Given the description of an element on the screen output the (x, y) to click on. 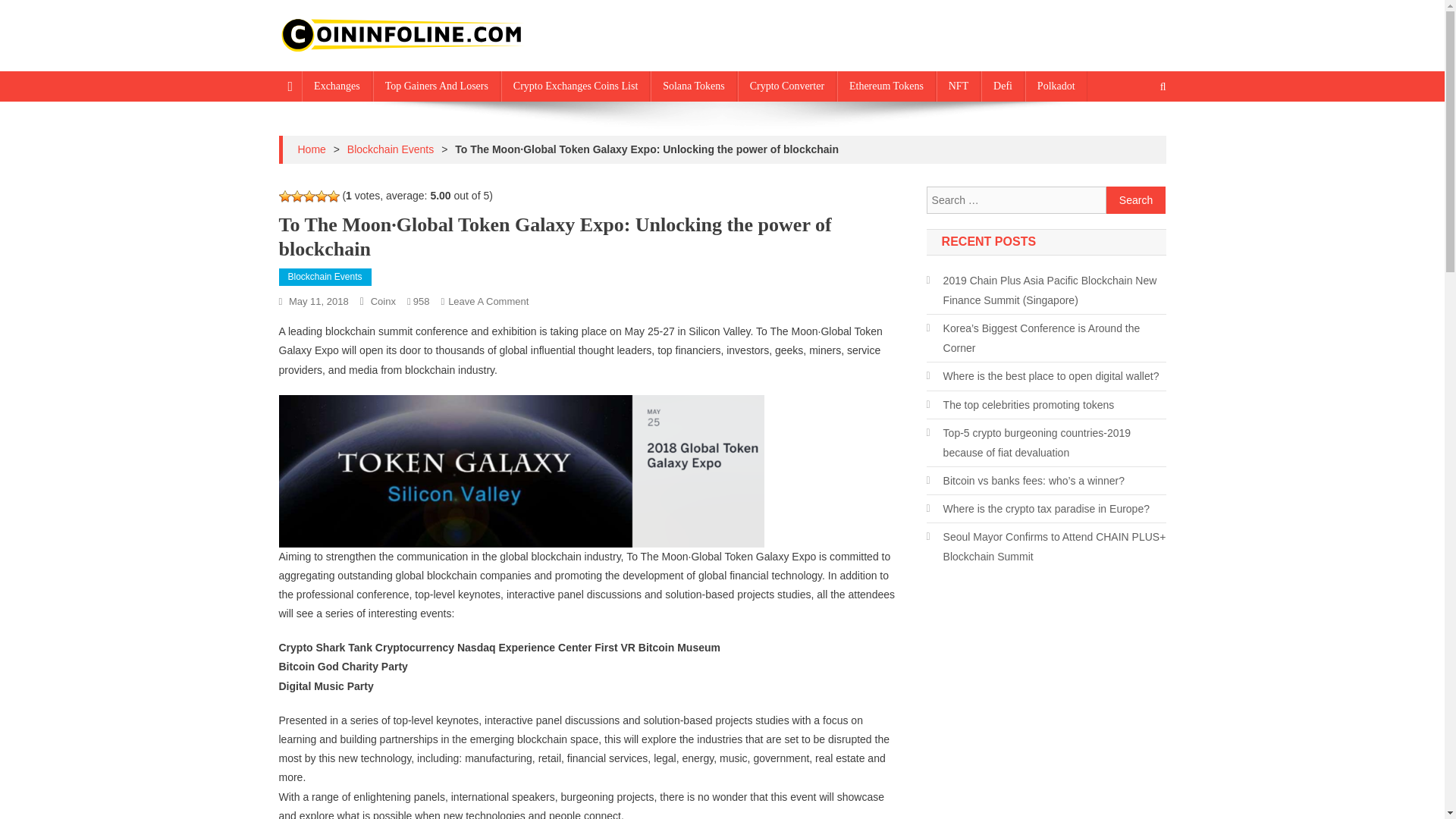
Ethereum Tokens (886, 86)
Real-Time Cryptocurrency price index for 2500 coins (582, 67)
Top Gainers And Losers (436, 86)
5 Stars (333, 196)
Exchanges (336, 86)
Crypto Converter (786, 86)
Solana Tokens (693, 86)
NFT (957, 86)
May 11, 2018 (318, 301)
Crypto Exchanges Coins List (575, 86)
2 Stars (296, 196)
Defi (1003, 86)
Blockchain Events (325, 277)
Home (310, 149)
3 Stars (308, 196)
